Given the description of an element on the screen output the (x, y) to click on. 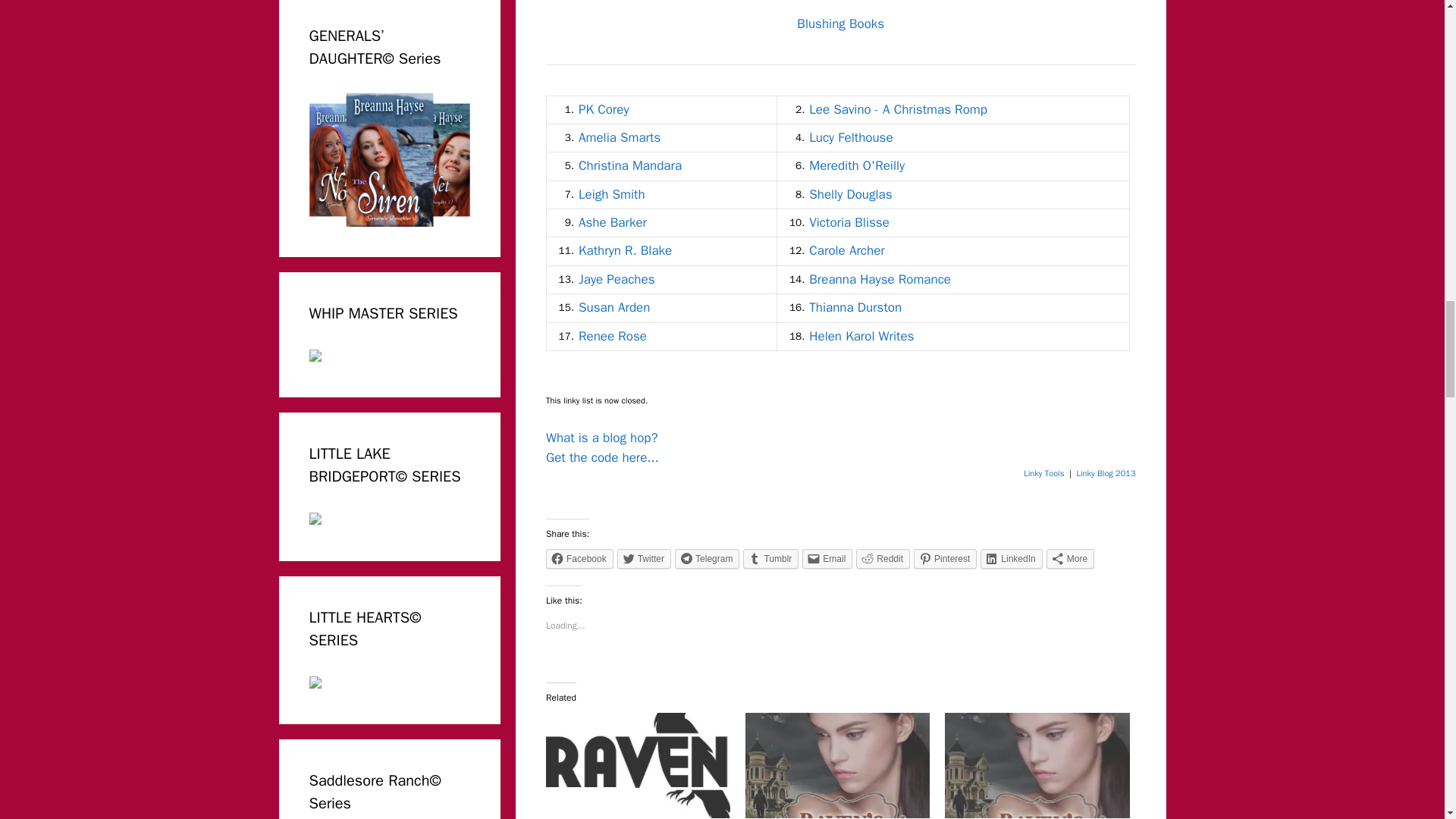
Lucy Felthouse (850, 137)
Ashe Barker (612, 222)
PK Corey (603, 109)
Leigh Smith (611, 194)
Amelia Smarts (619, 137)
Lee Savino - A Christmas Romp (898, 109)
Christina Mandara (629, 165)
Blushing Books (839, 23)
Shelly Douglas (850, 194)
Meredith O'Reilly (856, 165)
